Given the description of an element on the screen output the (x, y) to click on. 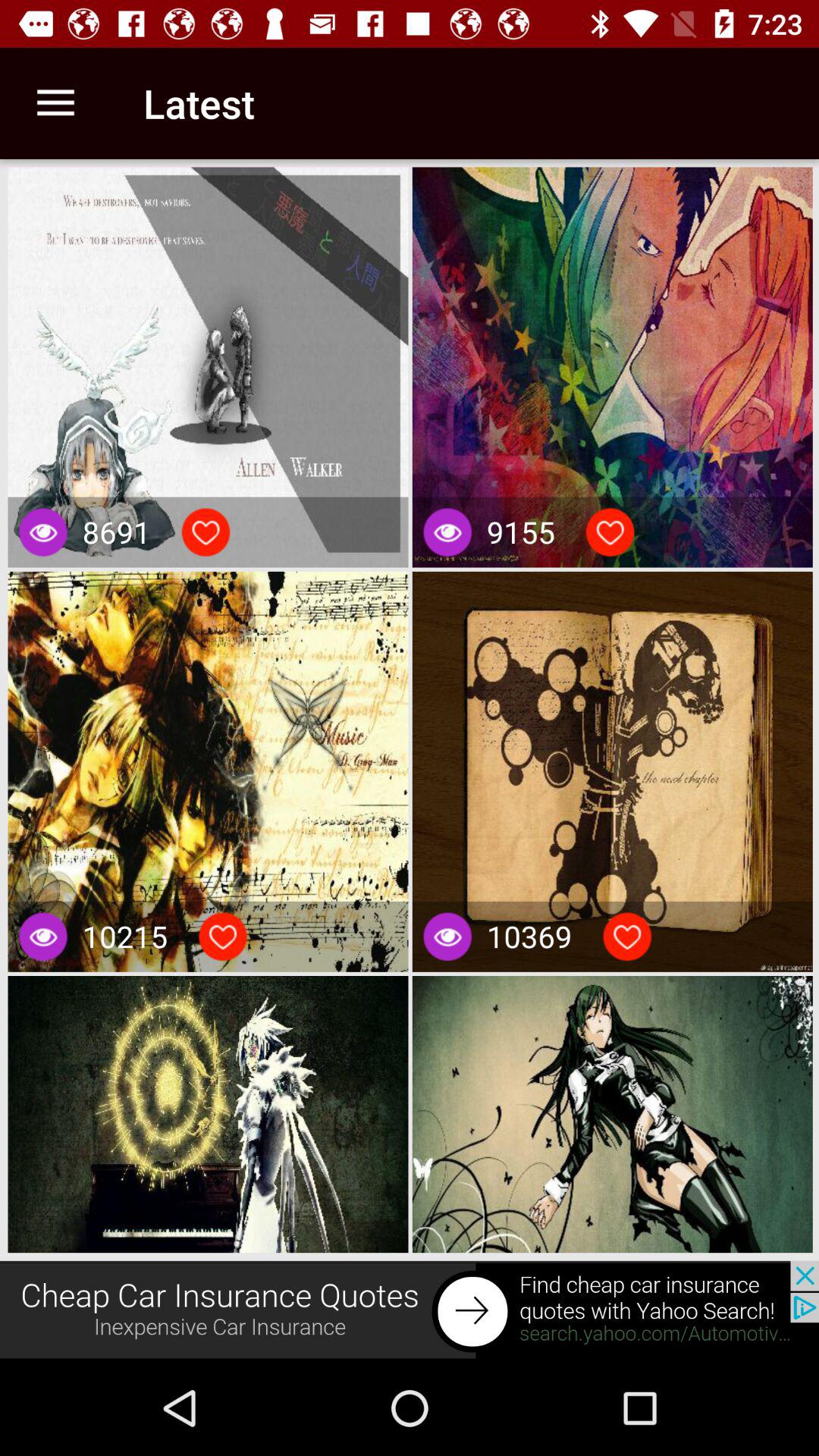
go to like option (610, 532)
